Given the description of an element on the screen output the (x, y) to click on. 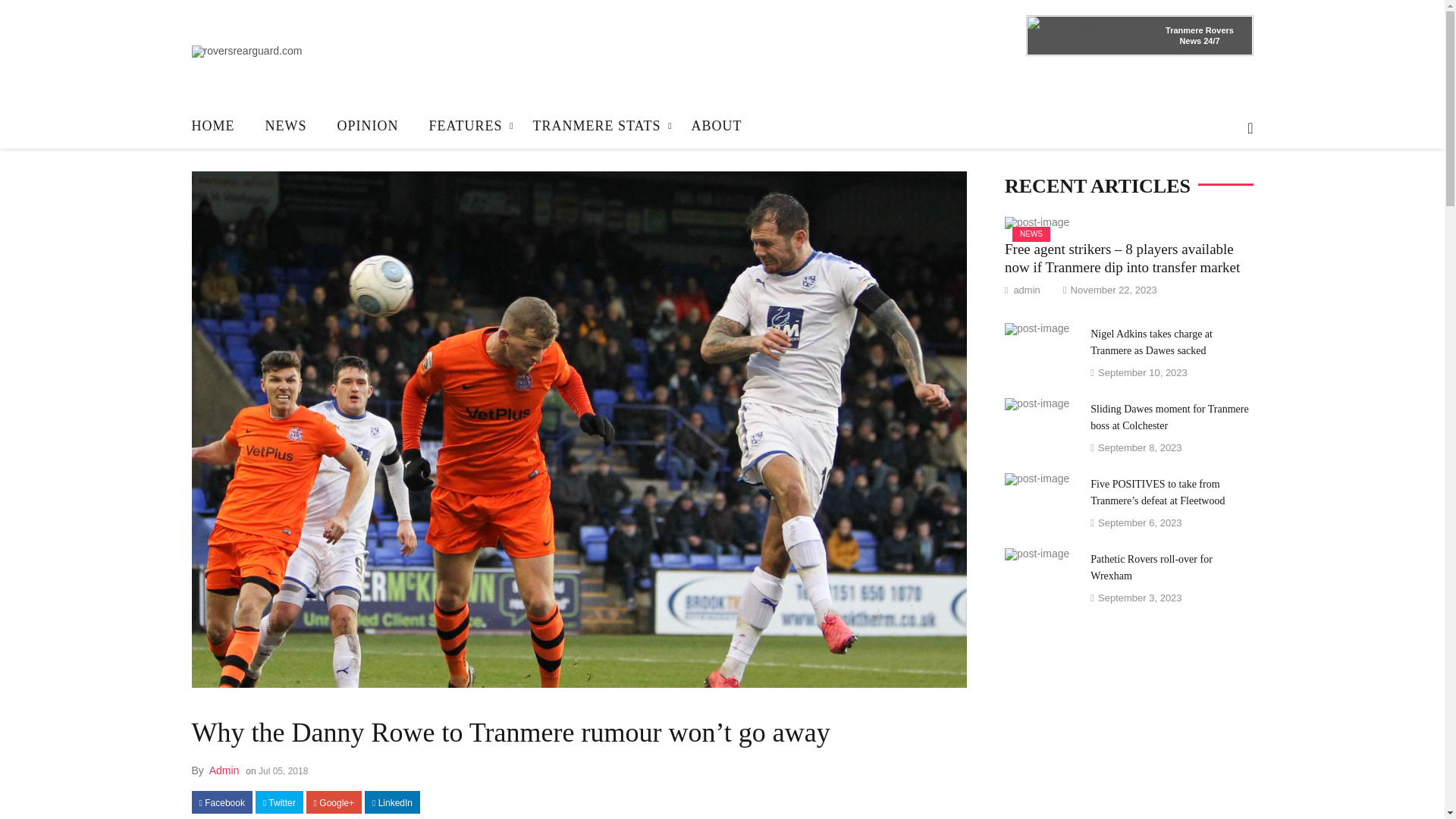
NEWS (285, 125)
twitter (279, 802)
OPINION (367, 125)
Click here for more Tranmere Rovers news from NewsNow (1210, 40)
HOME (219, 125)
TRANMERE STATS (597, 125)
Twitter (279, 802)
Admin (224, 770)
Click here for more Tranmere Rovers news from NewsNow (1199, 35)
facebook (221, 802)
Tranmere Rovers News (1199, 35)
Click here for more Tranmere Rovers news from NewsNow (1087, 35)
FEATURES (465, 125)
ABOUT (717, 125)
Facebook (221, 802)
